Given the description of an element on the screen output the (x, y) to click on. 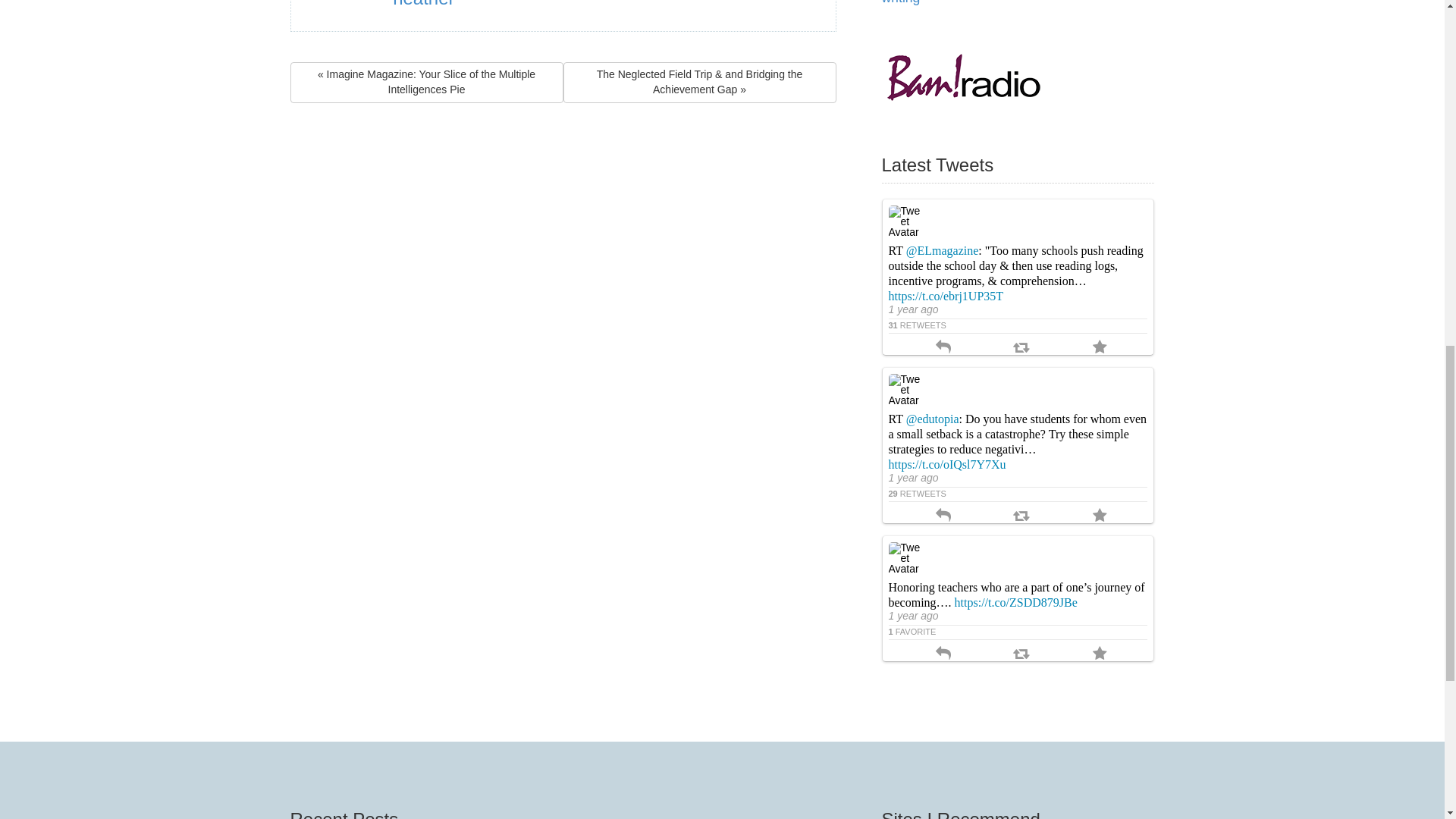
heather (423, 4)
Posts by heather (423, 4)
